Given the description of an element on the screen output the (x, y) to click on. 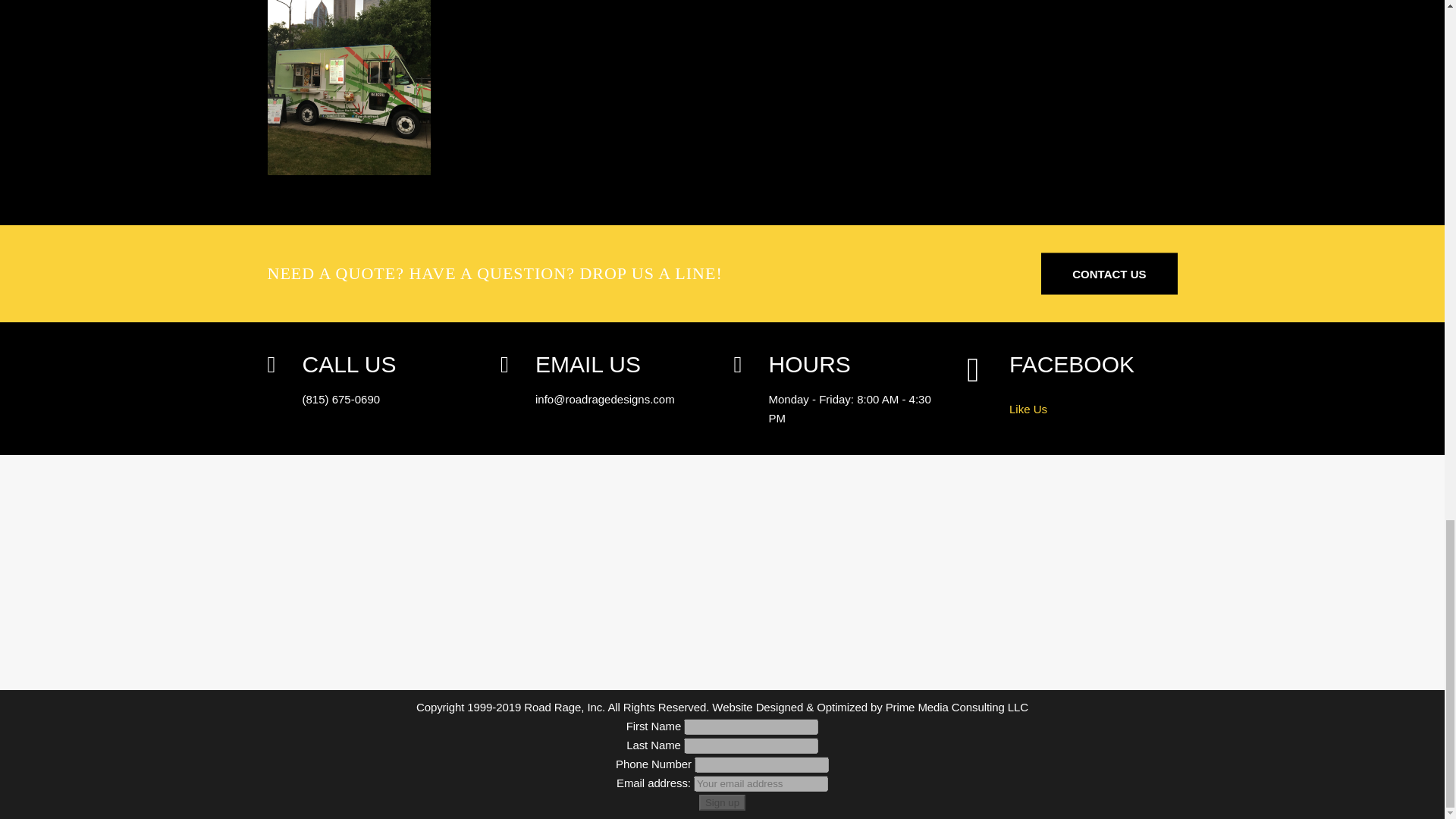
Sign up (721, 802)
